Given the description of an element on the screen output the (x, y) to click on. 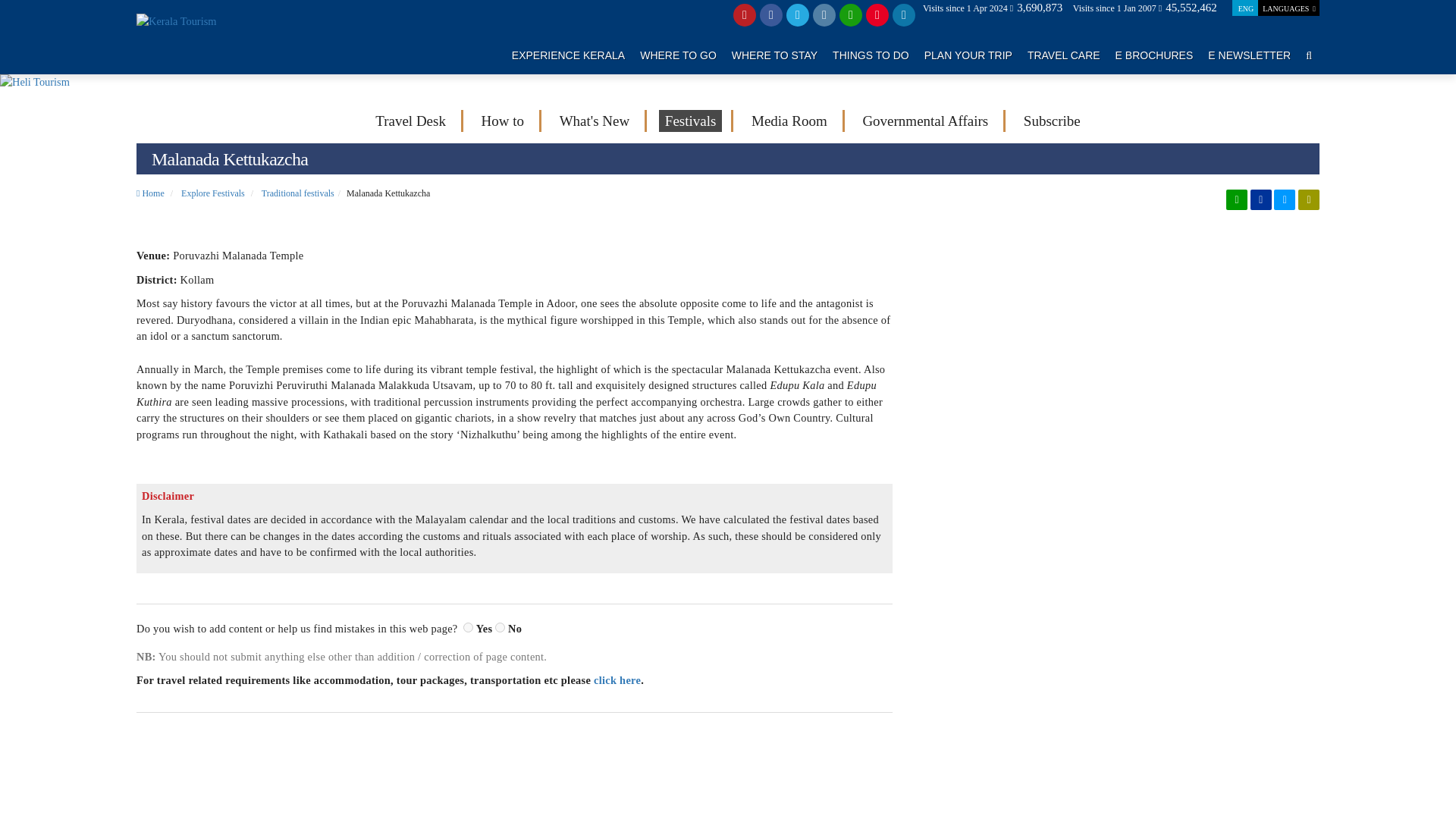
Festivals (690, 120)
WHERE TO GO (678, 55)
Media Room (788, 120)
WHERE TO STAY (774, 55)
Travel Desk (410, 120)
E BROCHURES (1154, 55)
E NEWSLETTER (1249, 55)
Governmental Affairs (925, 120)
TRAVEL CARE (1063, 55)
Yes (468, 627)
THINGS TO DO (870, 55)
EXPERIENCE KERALA (568, 55)
No (500, 627)
What's New (594, 120)
Home (150, 193)
